Given the description of an element on the screen output the (x, y) to click on. 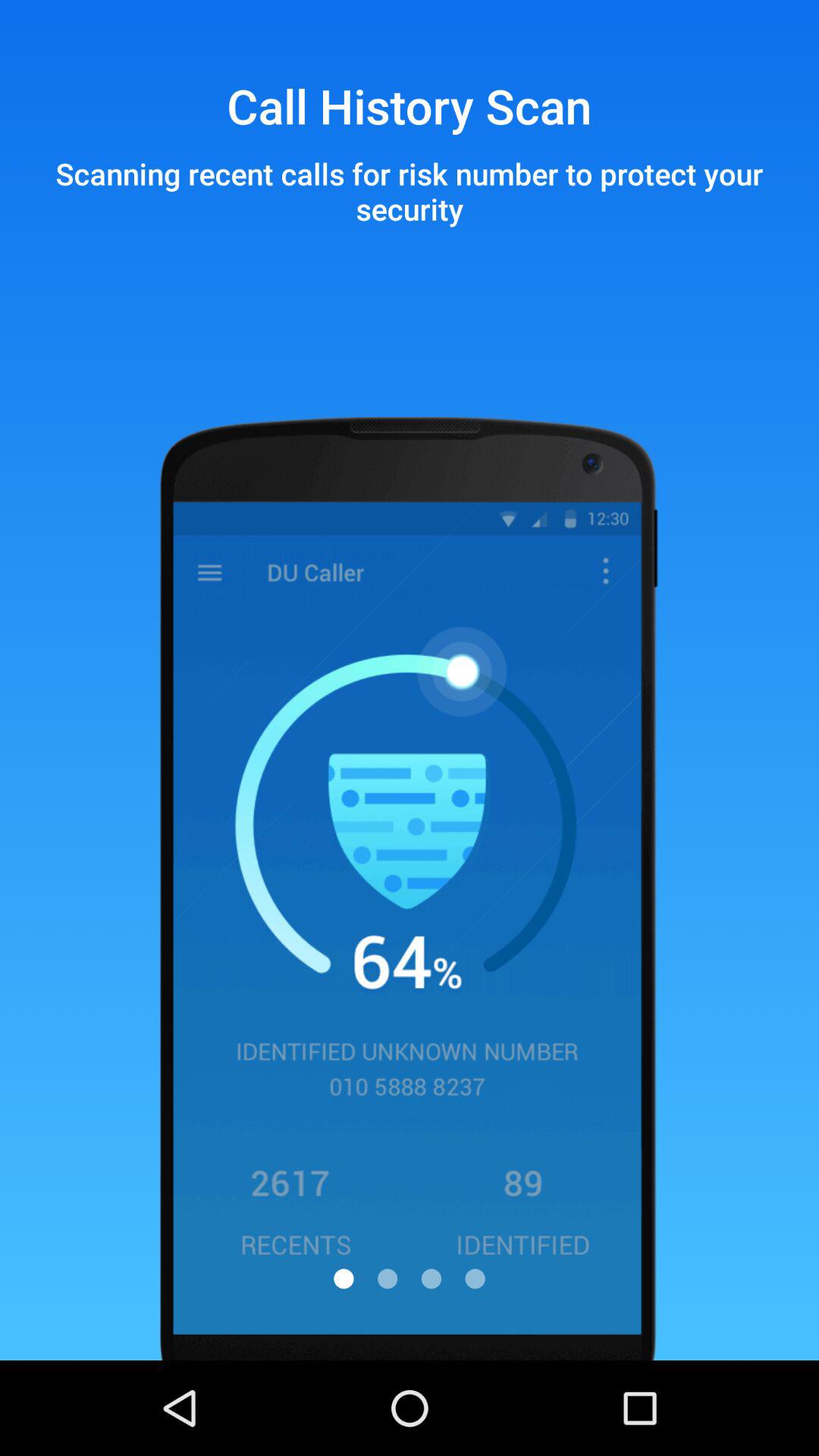
click item below scanning recent calls (475, 1278)
